Given the description of an element on the screen output the (x, y) to click on. 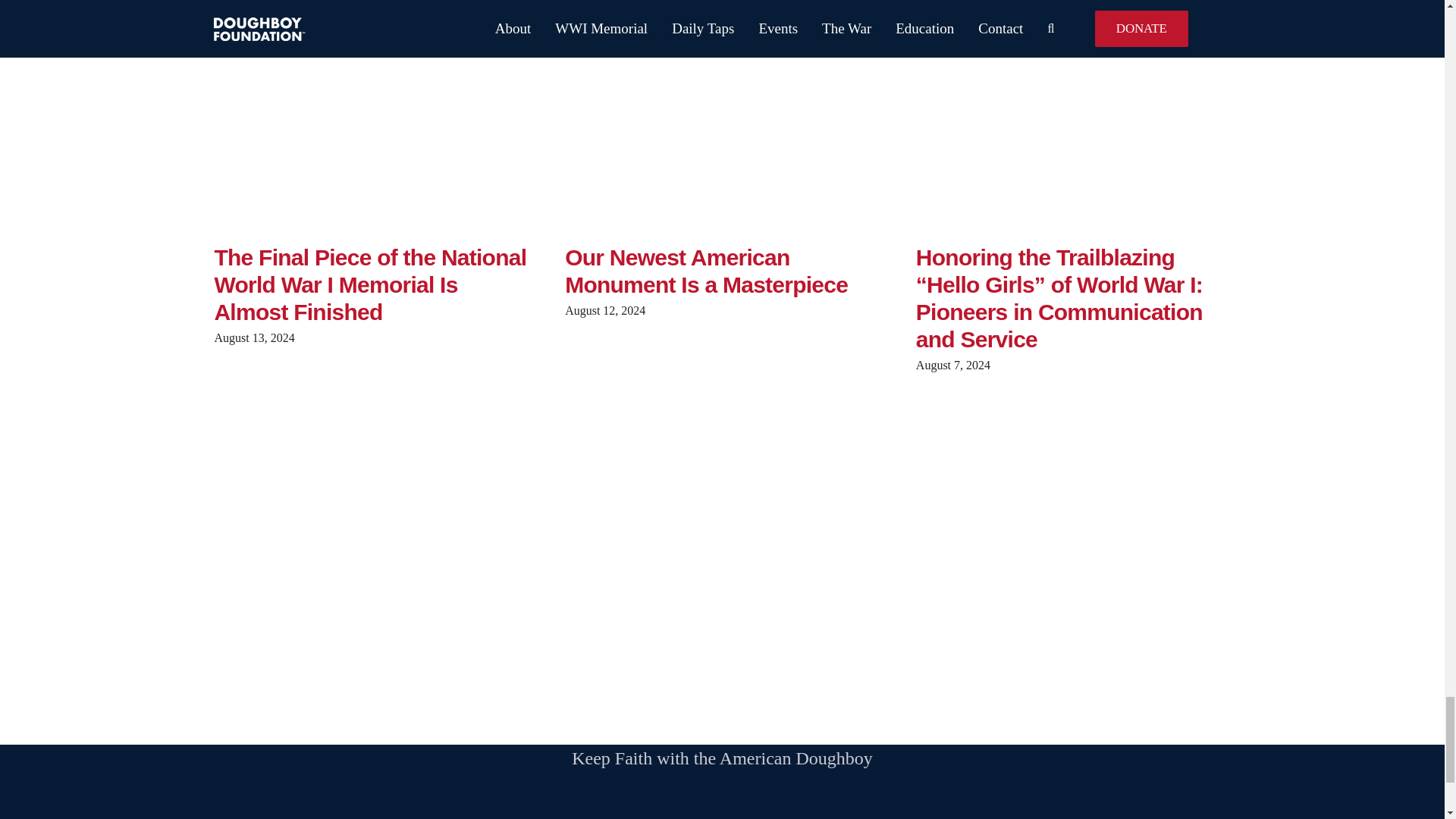
Our Newest American Monument Is a Masterpiece (705, 270)
Doughboy-stacked-white-mark (383, 818)
